Given the description of an element on the screen output the (x, y) to click on. 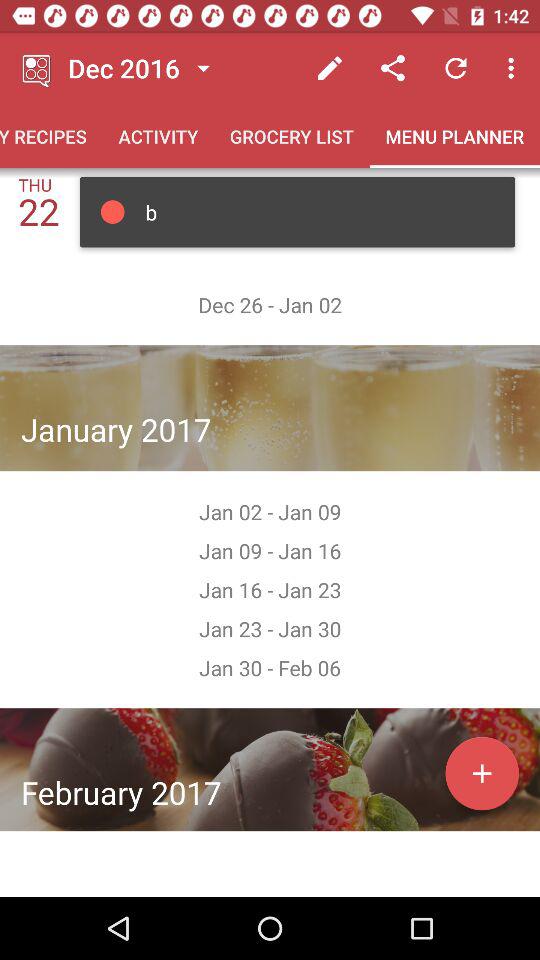
click add month (482, 773)
